Given the description of an element on the screen output the (x, y) to click on. 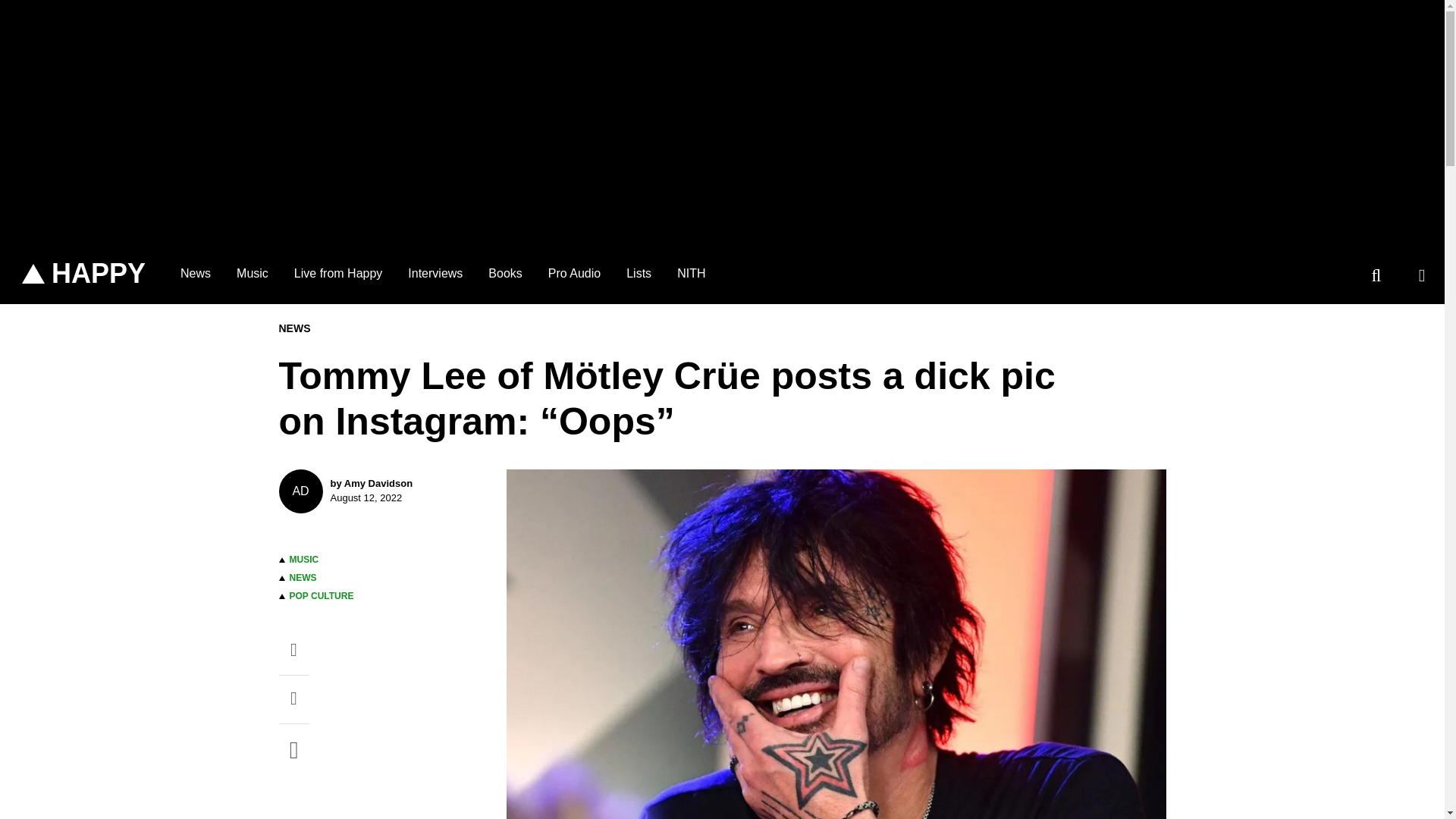
NEWS (303, 577)
POP CULTURE (381, 491)
Pro Audio (321, 595)
News (573, 273)
HAPPY (195, 273)
MUSIC (83, 273)
Interviews (303, 559)
Live from Happy (435, 273)
Music (338, 273)
